Given the description of an element on the screen output the (x, y) to click on. 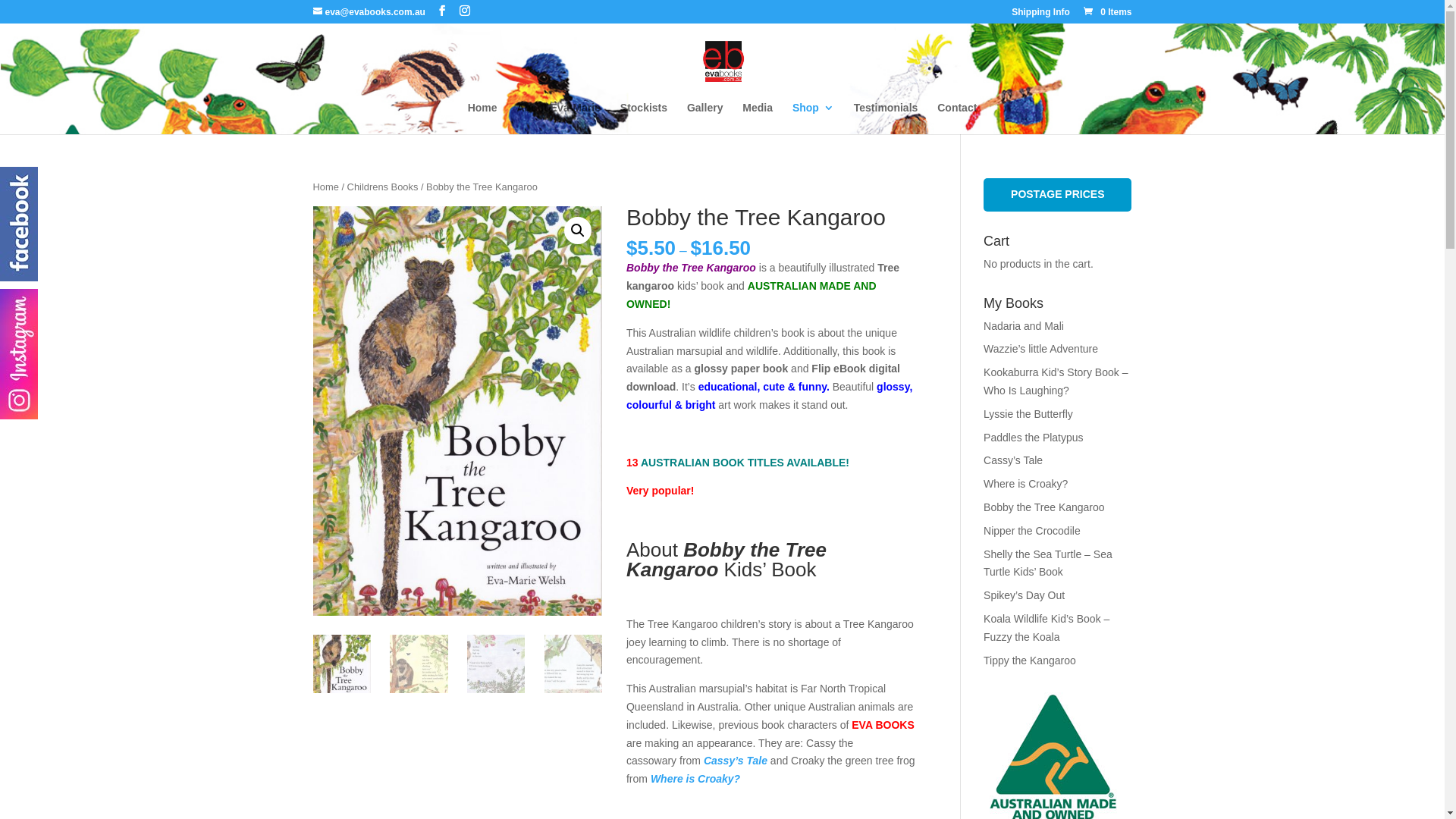
Stockists Element type: text (643, 118)
About Eva-Marie Element type: text (557, 118)
Shipping Info Element type: text (1040, 15)
Home Element type: text (325, 186)
Childrens Books Element type: text (382, 186)
Media Element type: text (757, 118)
Nipper the Crocodile Element type: text (1031, 530)
Bobby the Tree Kangaroo - Australian animal kids book Element type: hover (457, 410)
Testimonials Element type: text (885, 118)
Bobby the Tree Kangaroo Element type: text (1043, 507)
Tippy the Kangaroo Element type: text (1029, 660)
0 Items Element type: text (1106, 11)
Nadaria and Mali Element type: text (1023, 326)
Where is Croaky? Element type: text (1025, 483)
eva@evabooks.com.au Element type: text (368, 11)
Contact Element type: text (956, 118)
Shop Element type: text (813, 118)
Lyssie the Butterfly Element type: text (1028, 413)
Home Element type: text (482, 118)
Gallery Element type: text (704, 118)
POSTAGE PRICES Element type: text (1057, 194)
Paddles the Platypus Element type: text (1033, 437)
Where is Croaky? Element type: text (695, 778)
